Given the description of an element on the screen output the (x, y) to click on. 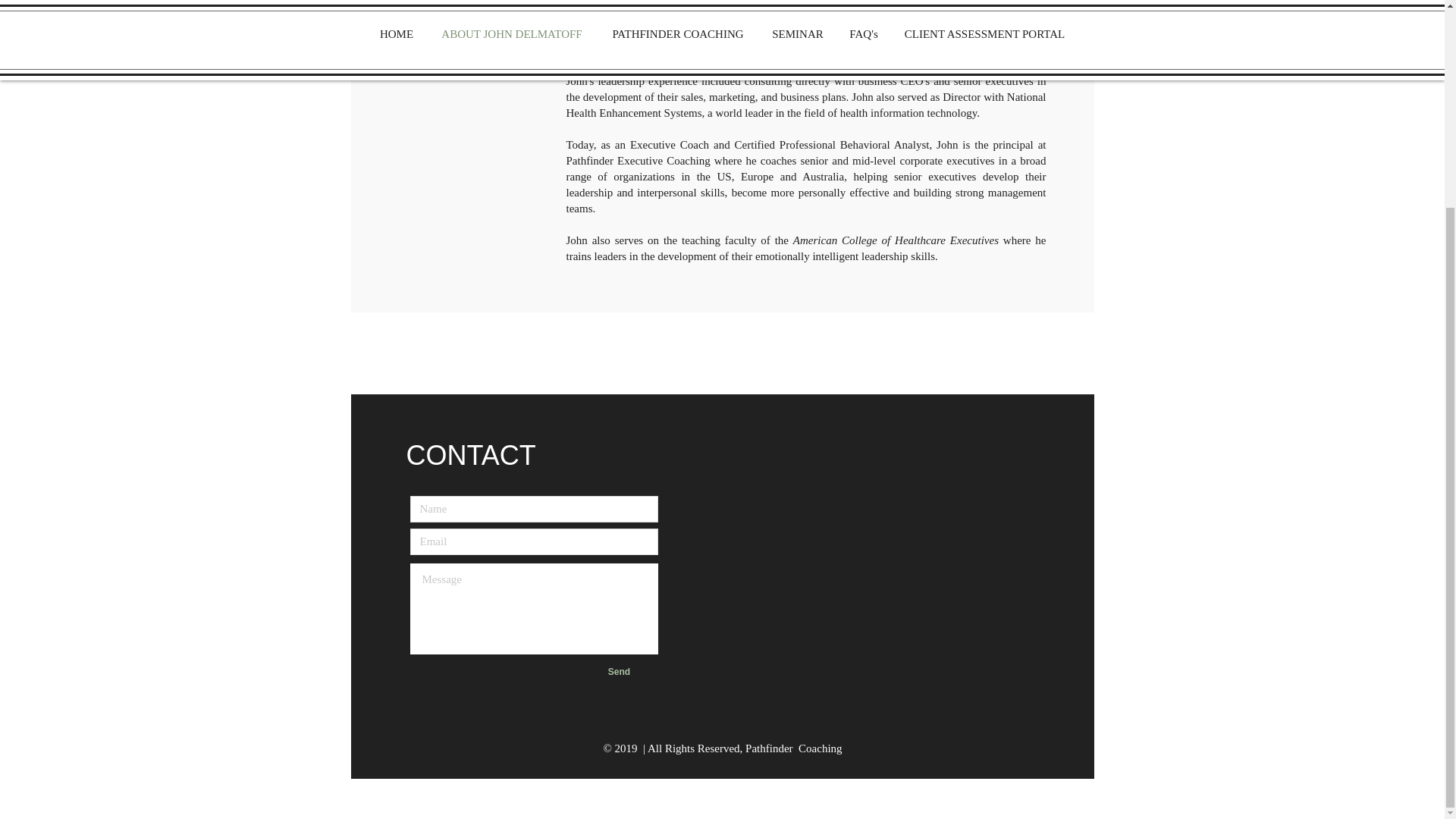
Send (619, 671)
